Given the description of an element on the screen output the (x, y) to click on. 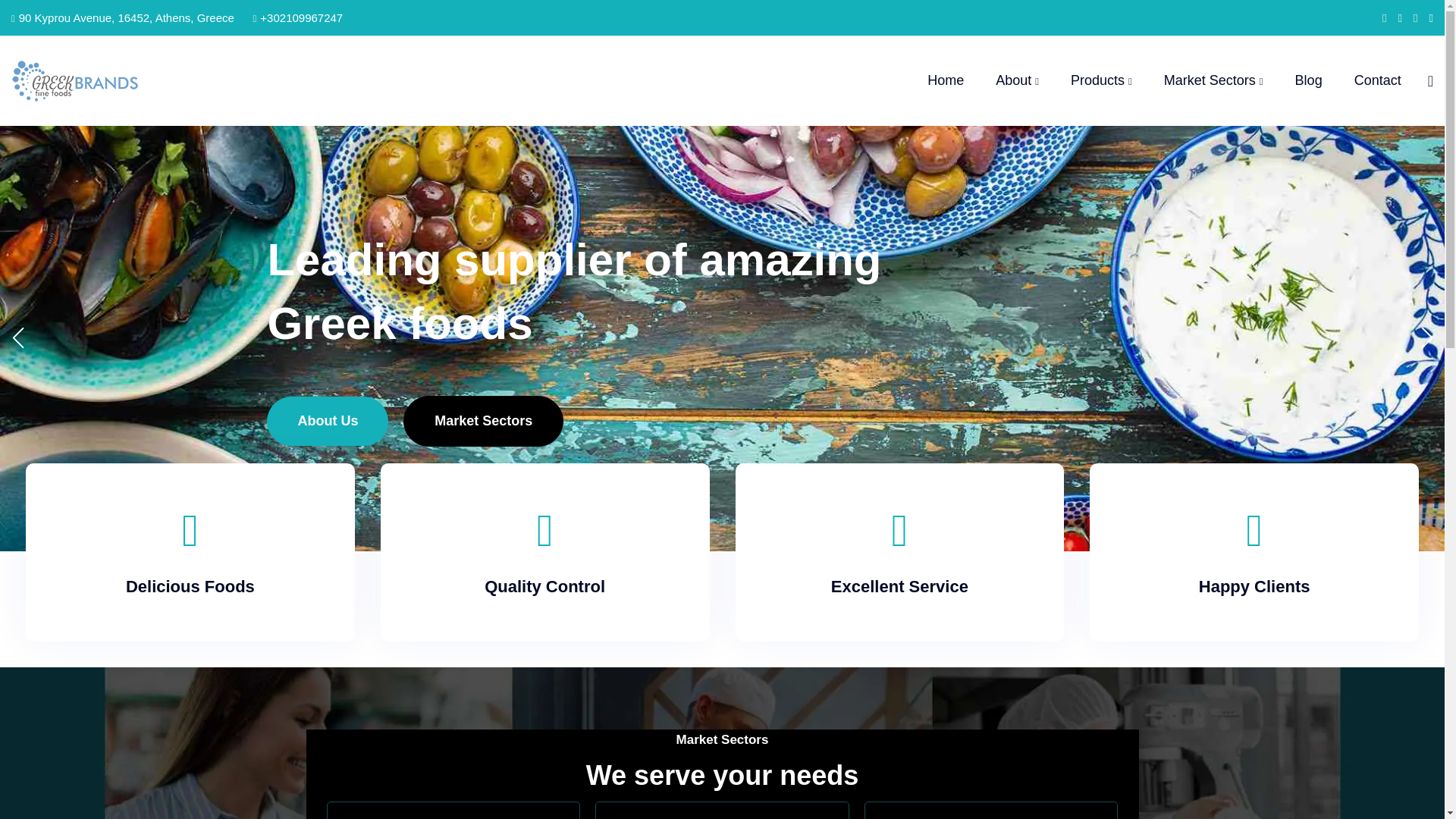
Market Sectors (1213, 80)
Contact (1377, 80)
Greek Brands (180, 80)
Home (945, 80)
About (1017, 80)
Blog (1308, 80)
Products (1101, 80)
